Given the description of an element on the screen output the (x, y) to click on. 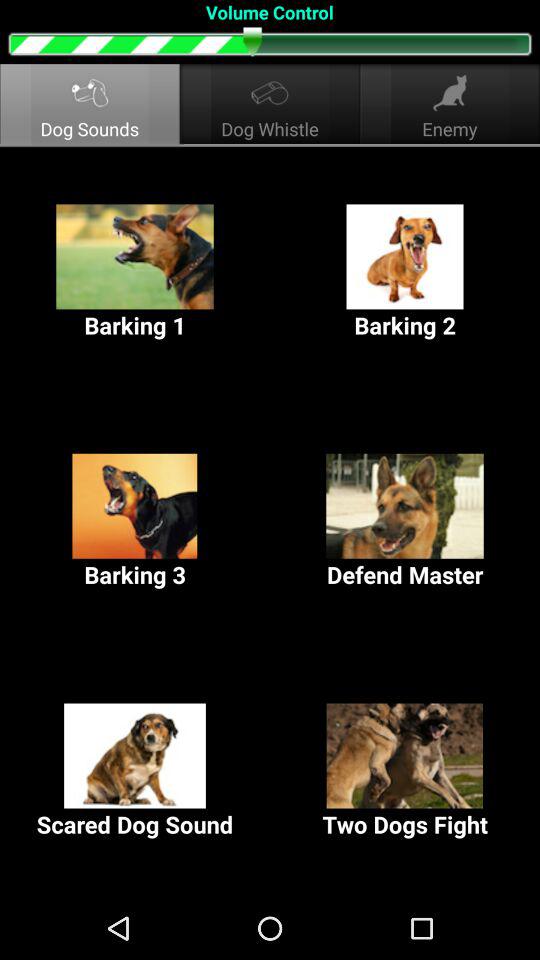
click the barking 1 button (135, 272)
